Given the description of an element on the screen output the (x, y) to click on. 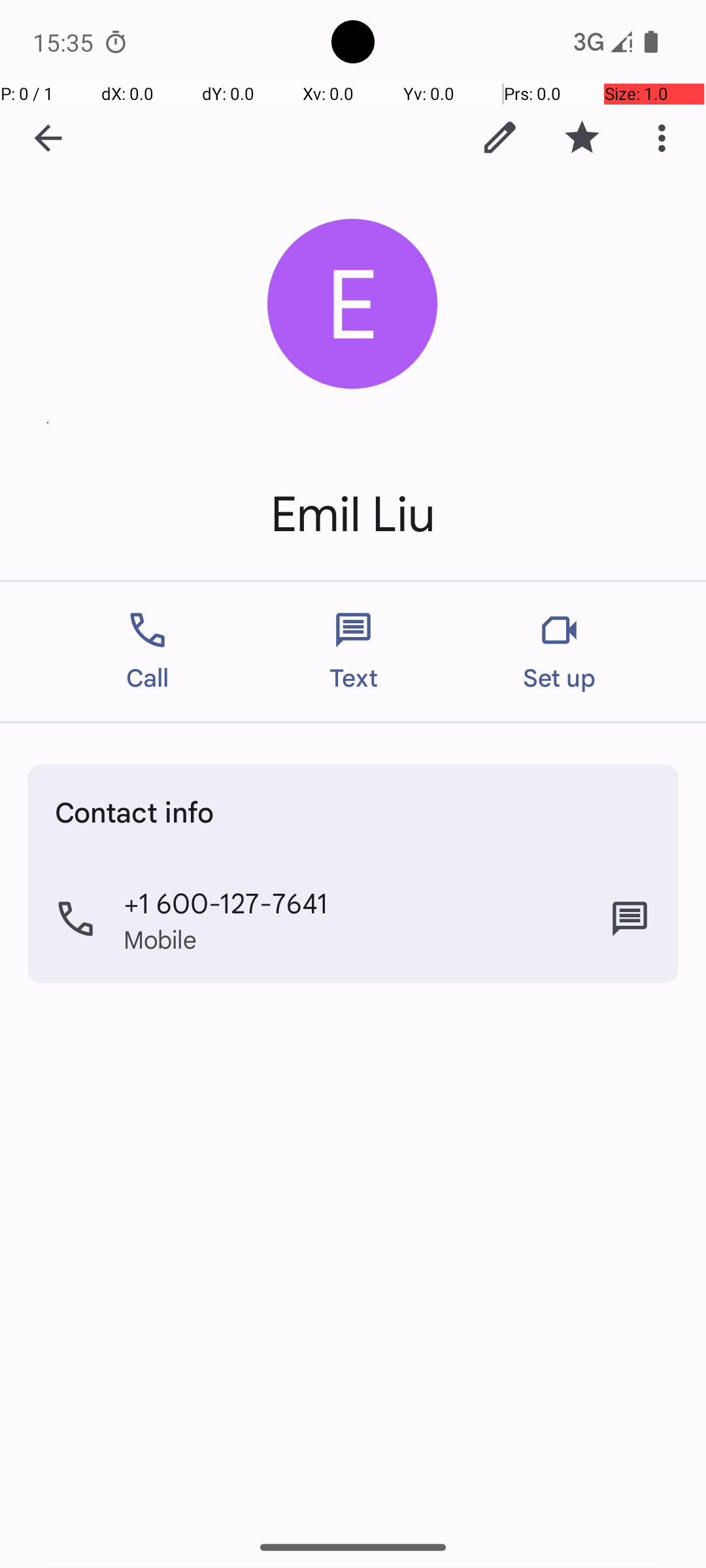
Emil Liu Element type: android.widget.TextView (352, 514)
Call Mobile +1 600-127-7641 Element type: android.widget.RelativeLayout (352, 919)
+1 600-127-7641 Element type: android.widget.TextView (225, 901)
Text Mobile +1 600-127-7641 Element type: android.widget.Button (629, 919)
